Given the description of an element on the screen output the (x, y) to click on. 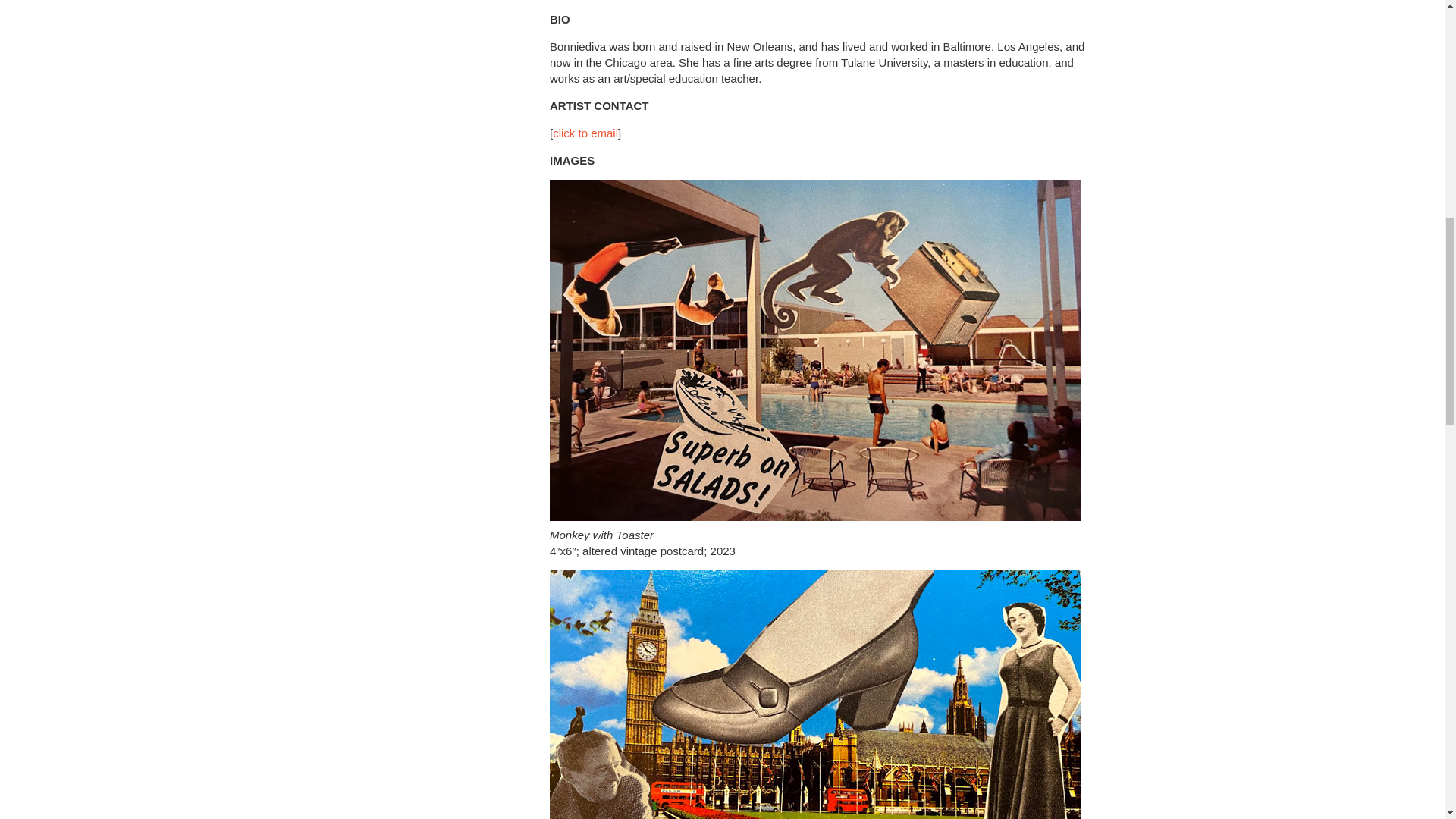
click to email (585, 132)
